Given the description of an element on the screen output the (x, y) to click on. 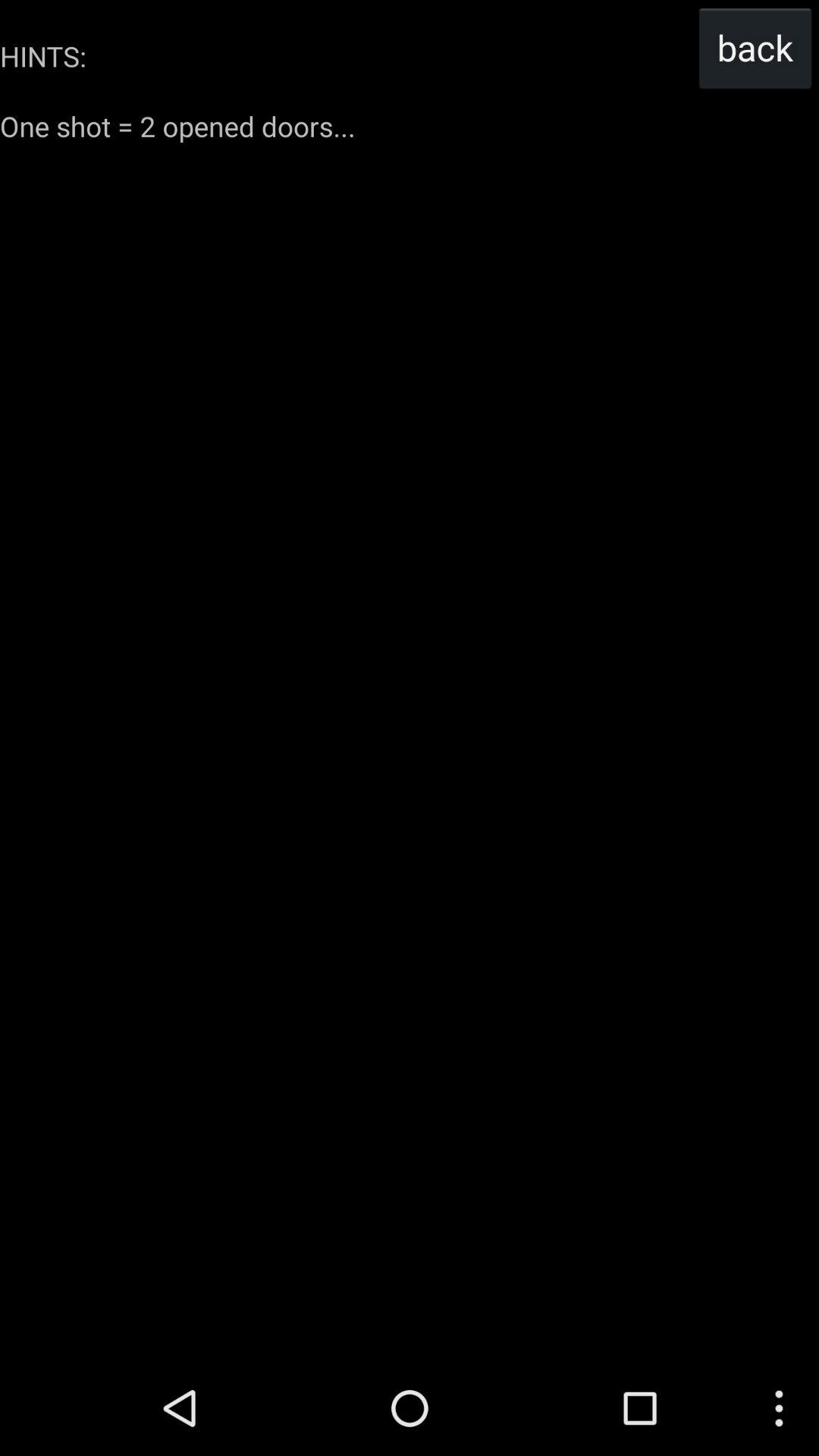
turn on back at the top right corner (755, 47)
